Given the description of an element on the screen output the (x, y) to click on. 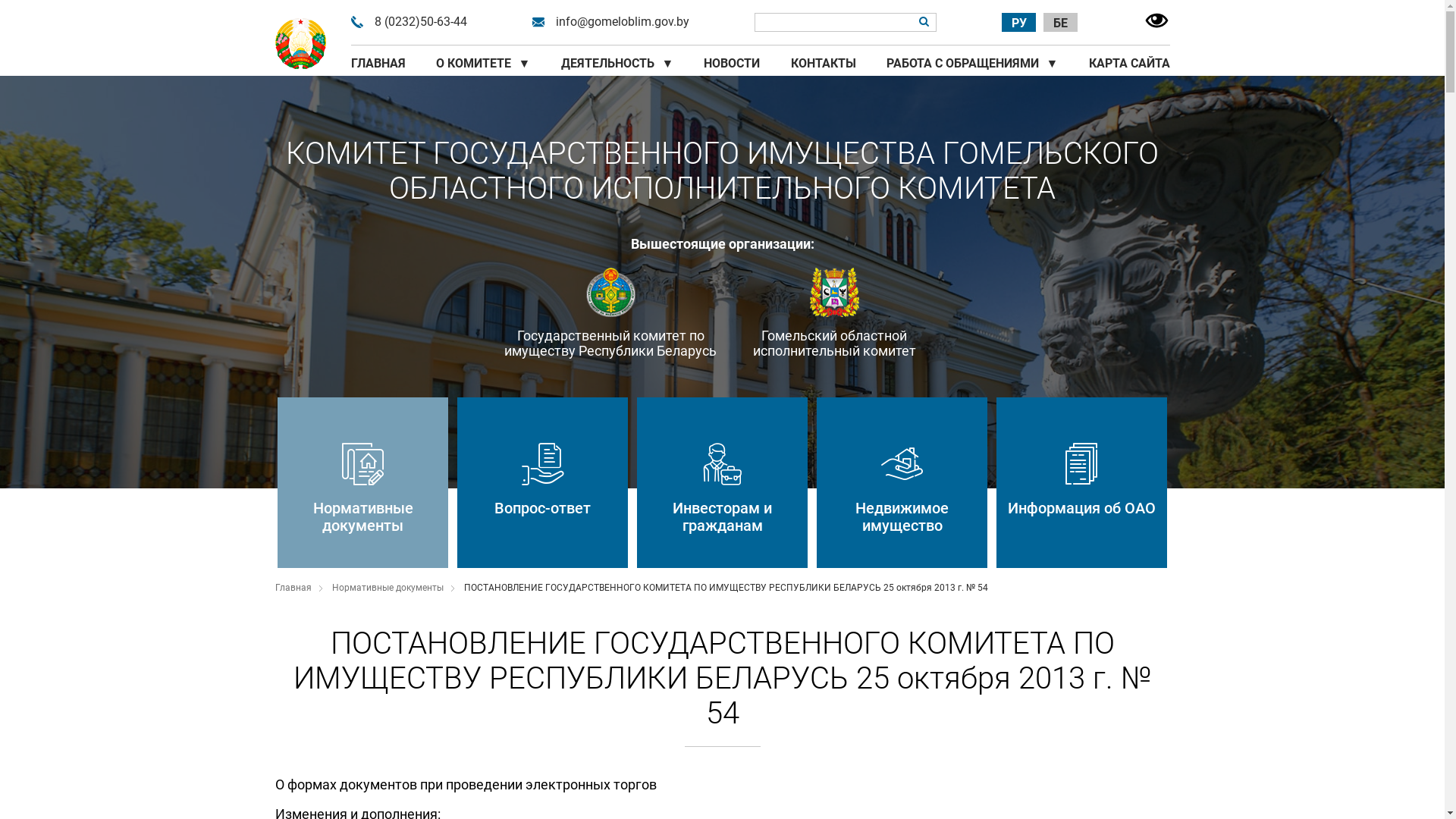
8 (0232)50-63-44 Element type: text (420, 21)
info@gomeloblim.gov.by Element type: text (622, 21)
